Given the description of an element on the screen output the (x, y) to click on. 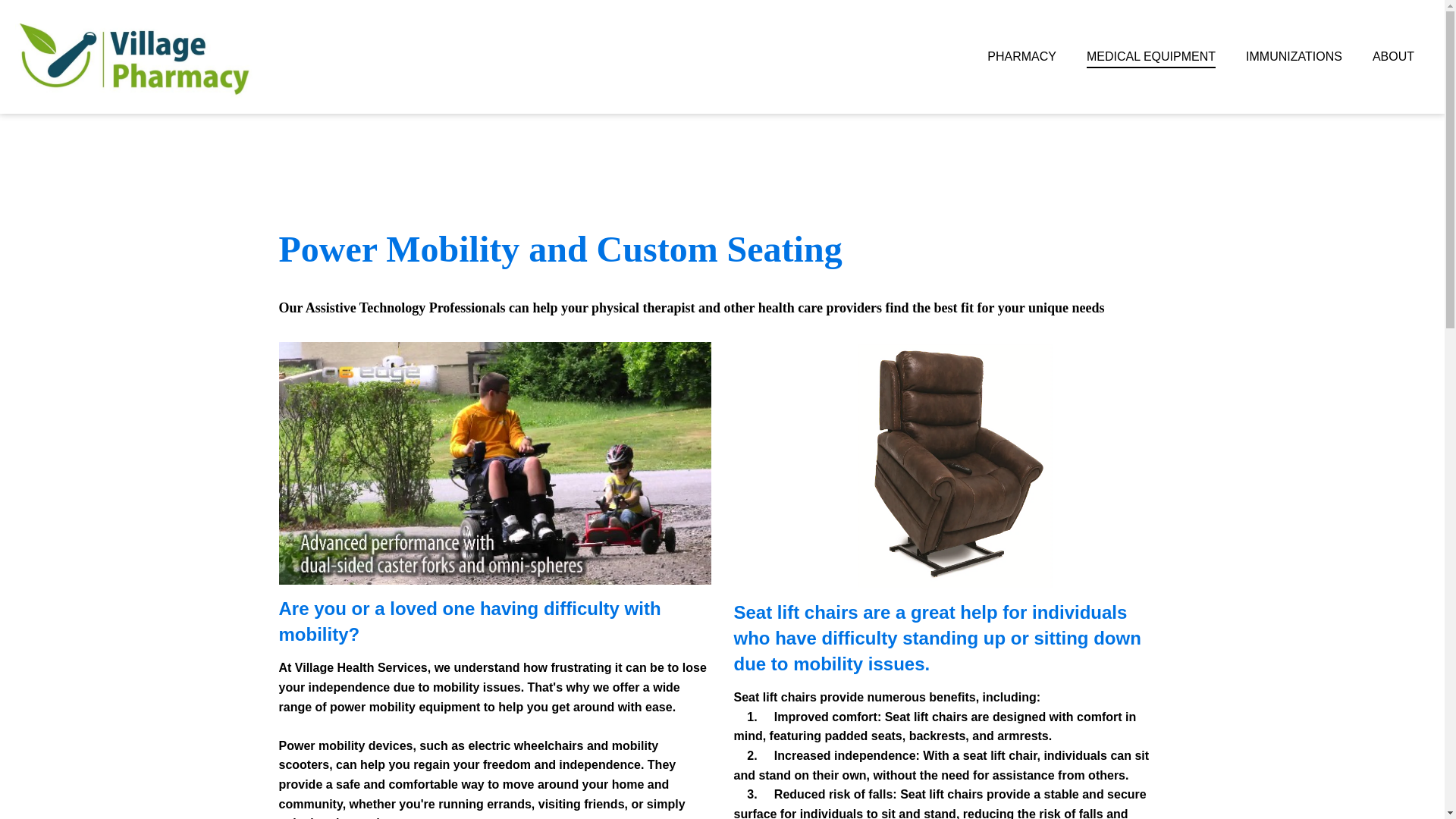
ABOUT (1392, 56)
IMMUNIZATIONS (1293, 56)
PHARMACY (1021, 56)
MEDICAL EQUIPMENT (1150, 56)
